Given the description of an element on the screen output the (x, y) to click on. 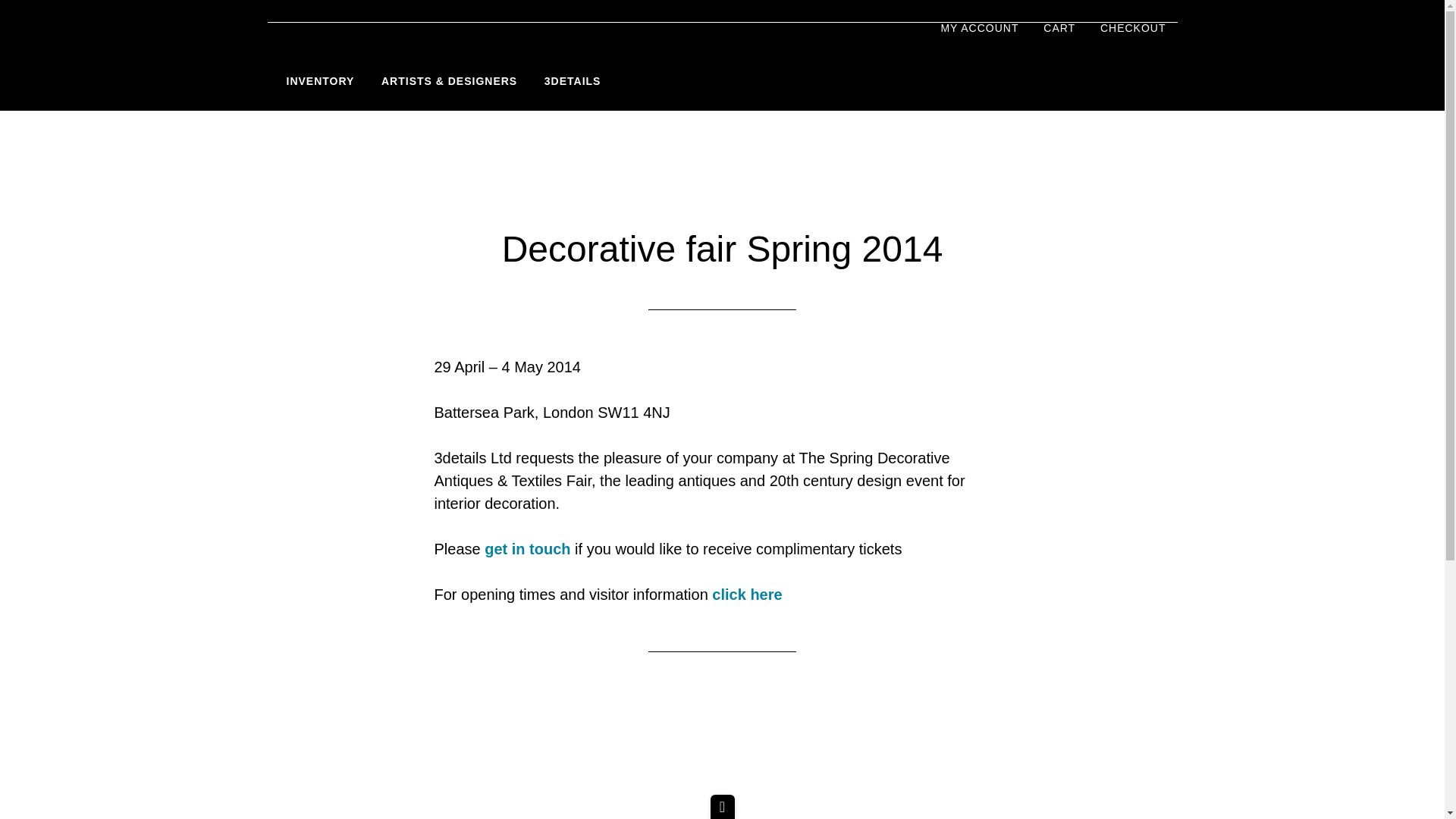
about 3details and Peter Woodward (572, 81)
INVENTORY (320, 81)
3DETAILS (327, 51)
CART (1059, 28)
CHECKOUT (1133, 28)
3DETAILS (572, 81)
contact (527, 548)
visit the decorative fair website (746, 594)
MY ACCOUNT (978, 28)
